Given the description of an element on the screen output the (x, y) to click on. 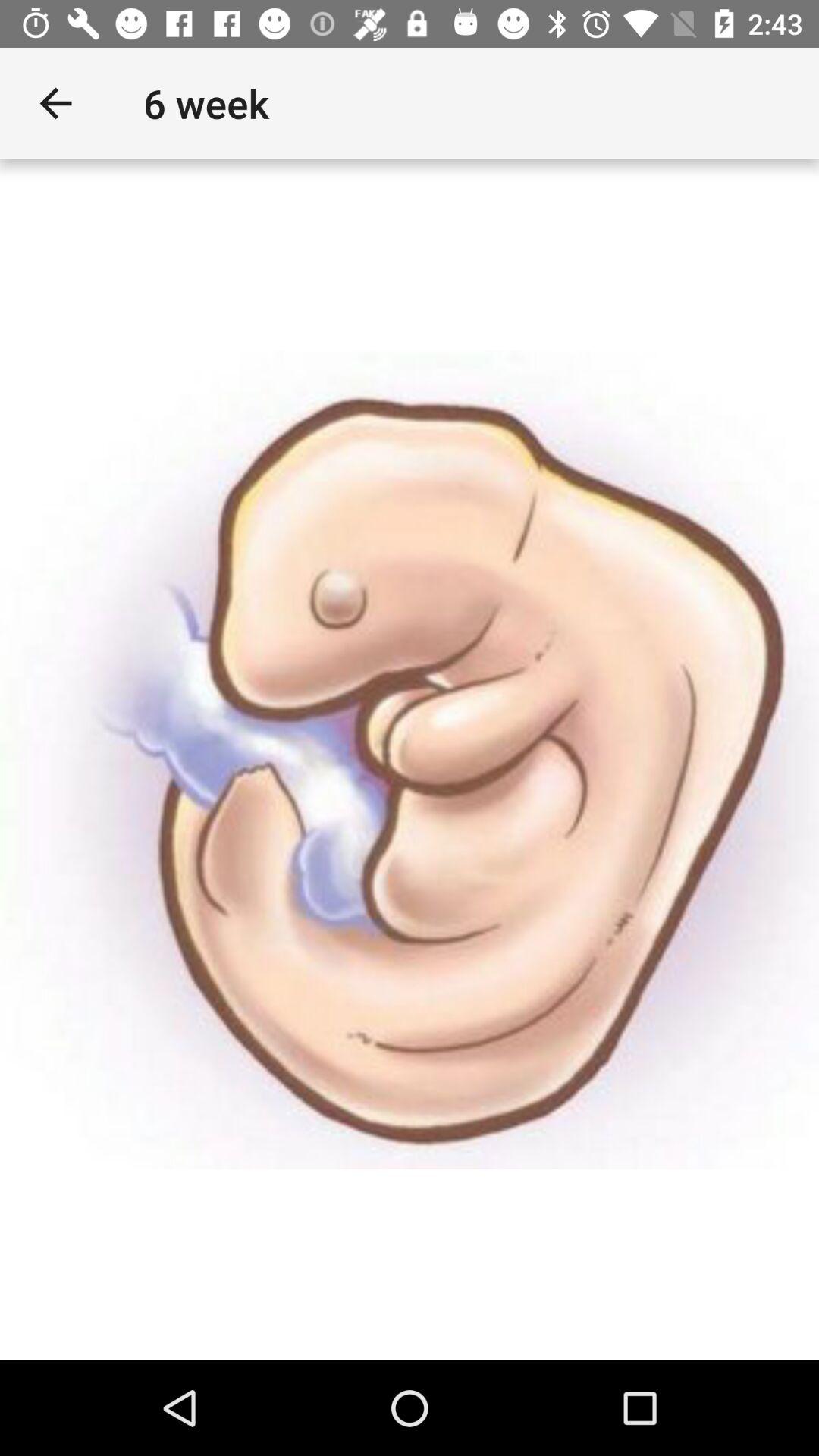
turn on icon next to the 6 week (55, 103)
